Given the description of an element on the screen output the (x, y) to click on. 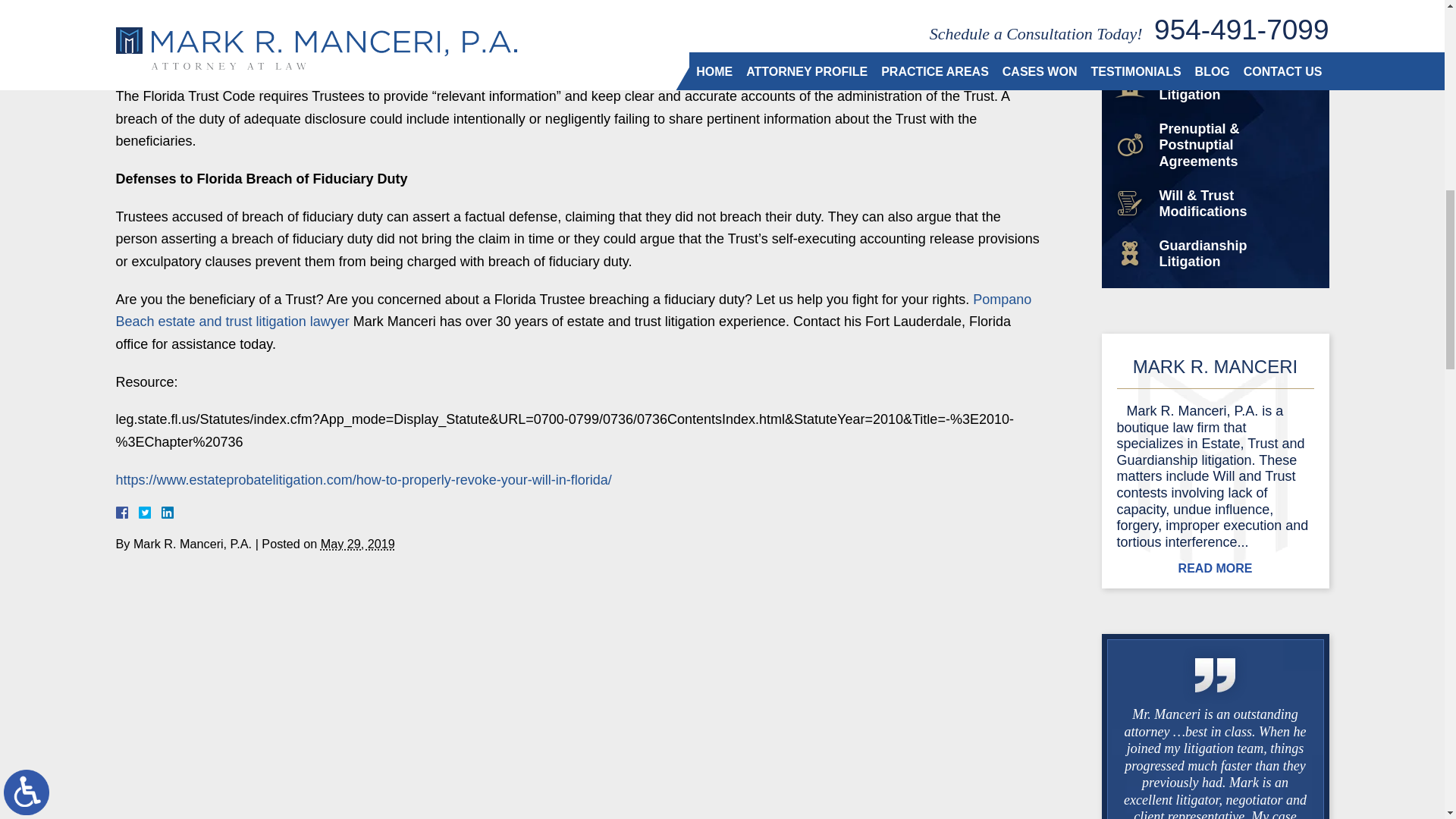
Twitter (149, 512)
Facebook (139, 512)
2019-05-29T08:04:11-0700 (357, 543)
LinkedIn (160, 512)
Pompano Beach estate and trust litigation lawyer (572, 310)
